Given the description of an element on the screen output the (x, y) to click on. 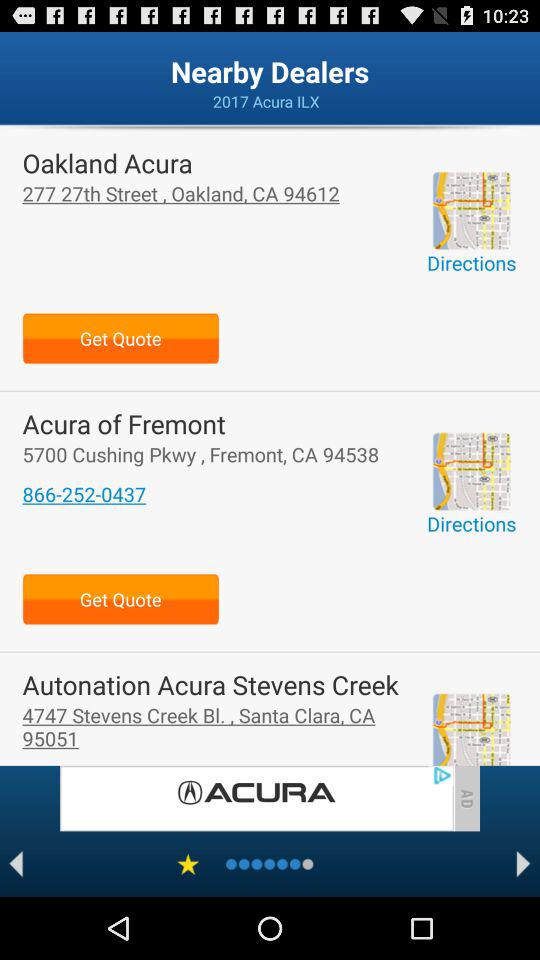
get directions (471, 729)
